Given the description of an element on the screen output the (x, y) to click on. 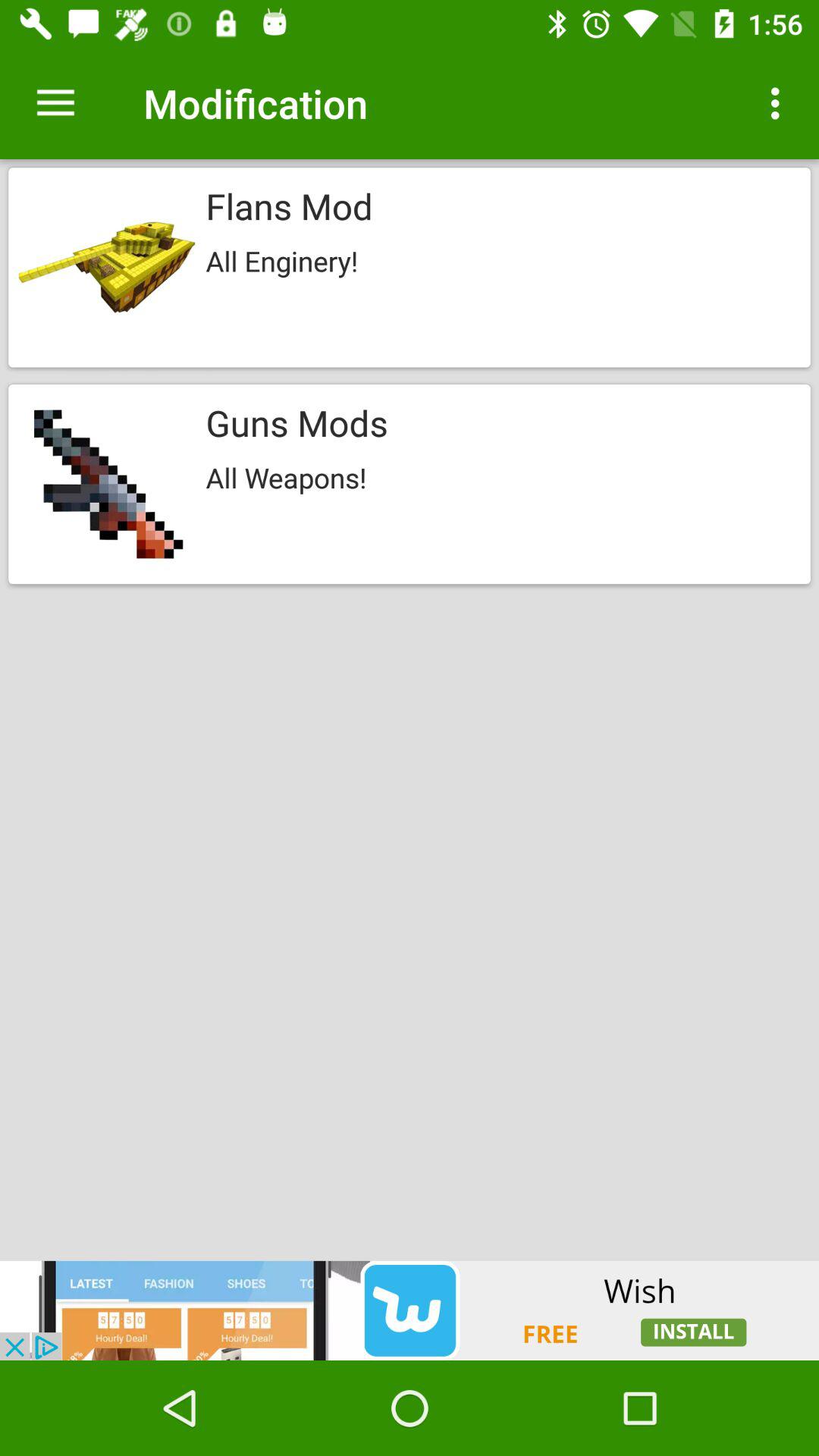
open advertisement (409, 1310)
